Given the description of an element on the screen output the (x, y) to click on. 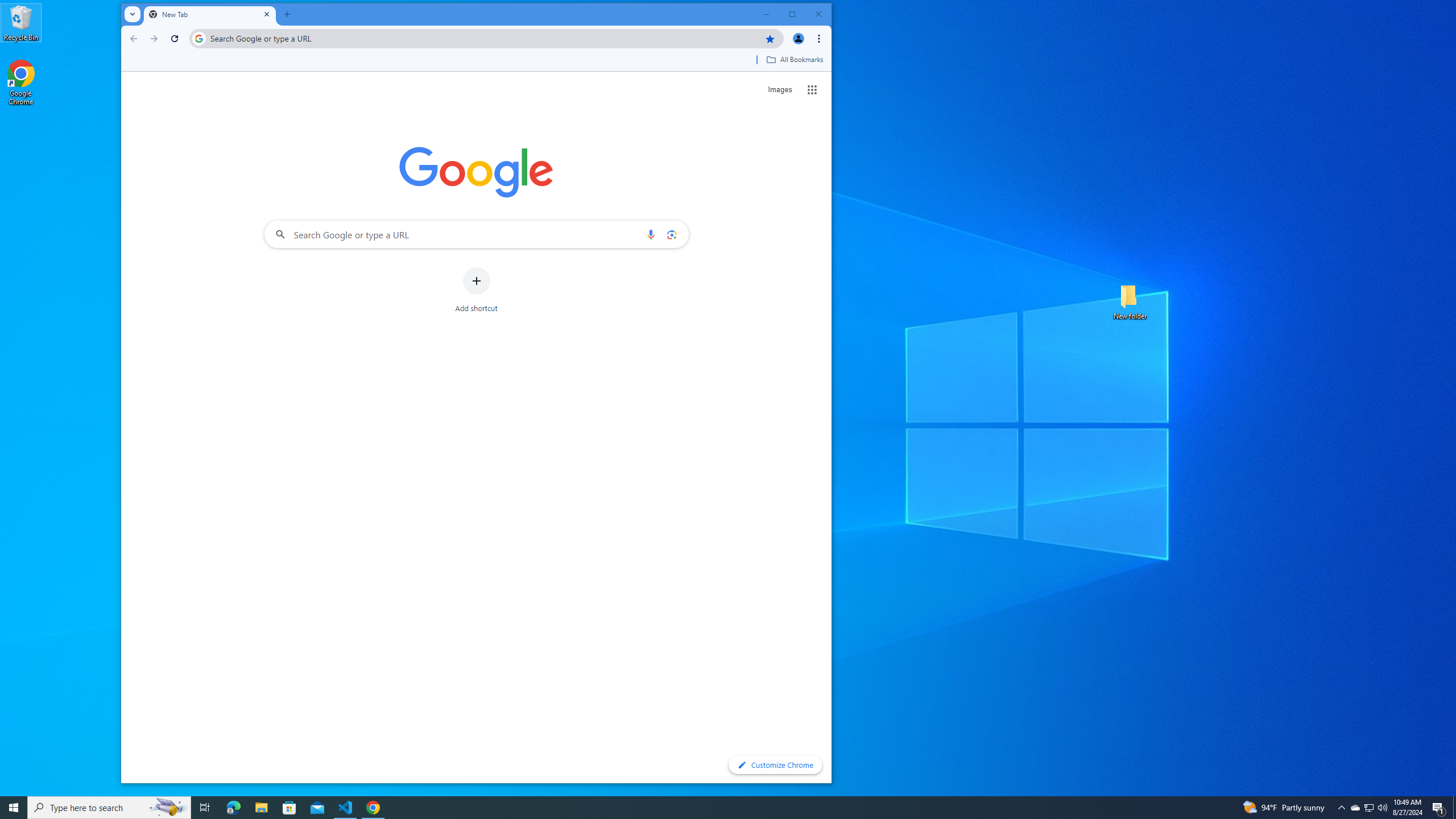
New folder (1130, 301)
Google Chrome (21, 82)
Recycle Bin (21, 22)
